Given the description of an element on the screen output the (x, y) to click on. 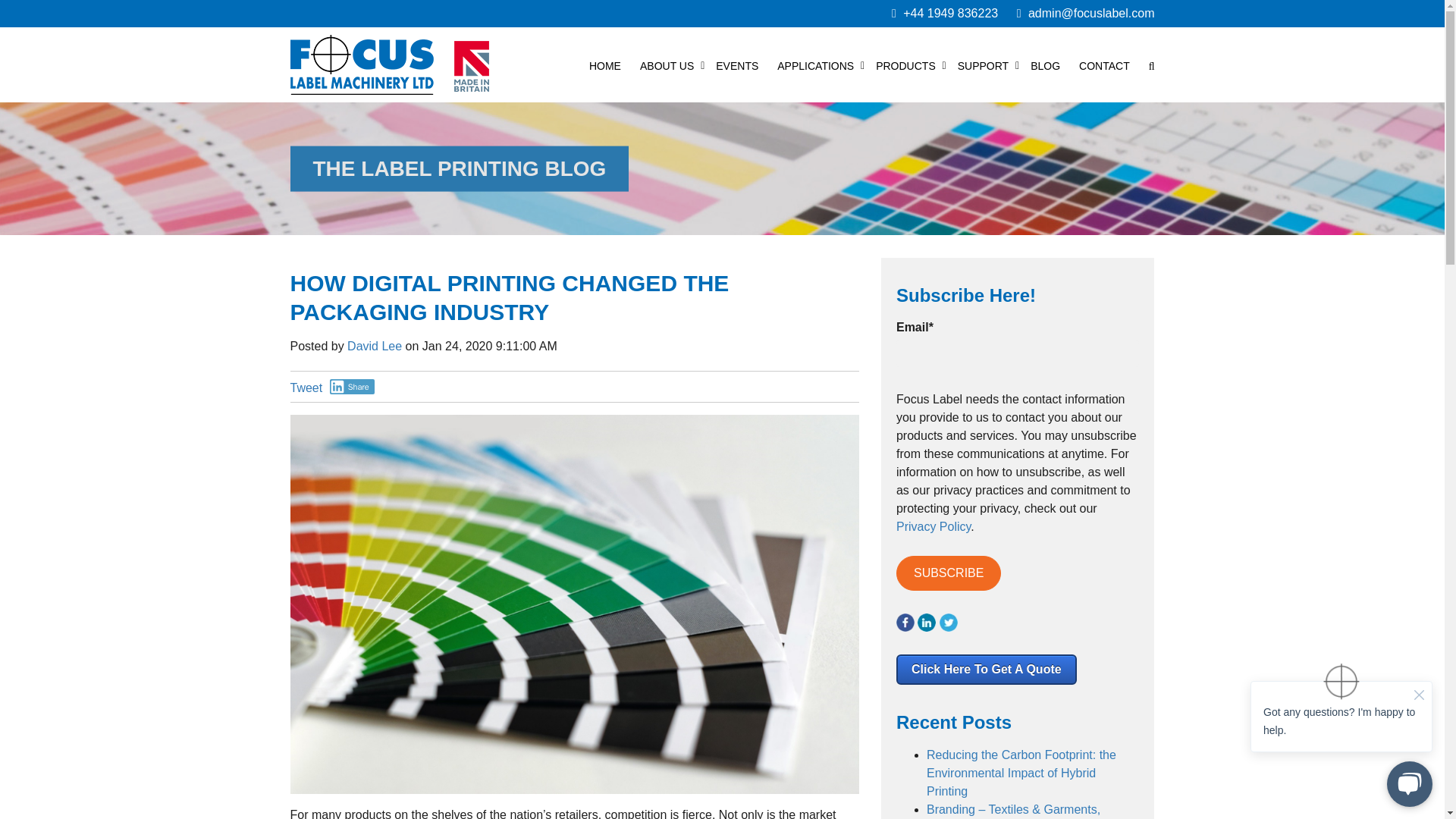
ABOUT US (667, 65)
PRODUCTS (906, 65)
APPLICATIONS (815, 65)
HOME (605, 65)
EVENTS (737, 65)
Subscribe (948, 573)
